Given the description of an element on the screen output the (x, y) to click on. 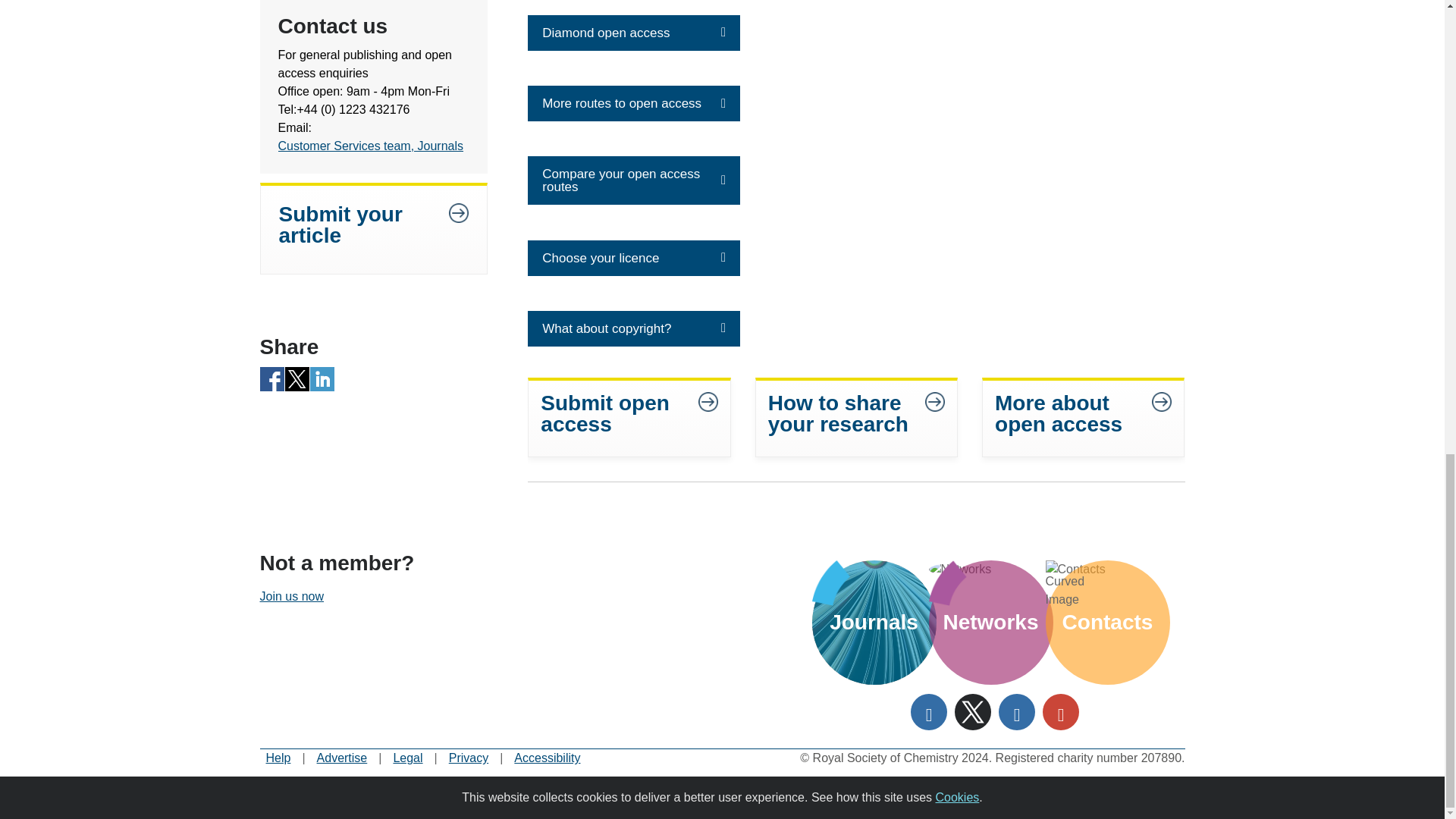
Frequently asked questions (276, 758)
Contacts (1107, 569)
Networks (990, 569)
Accessibility statement (546, 758)
